Given the description of an element on the screen output the (x, y) to click on. 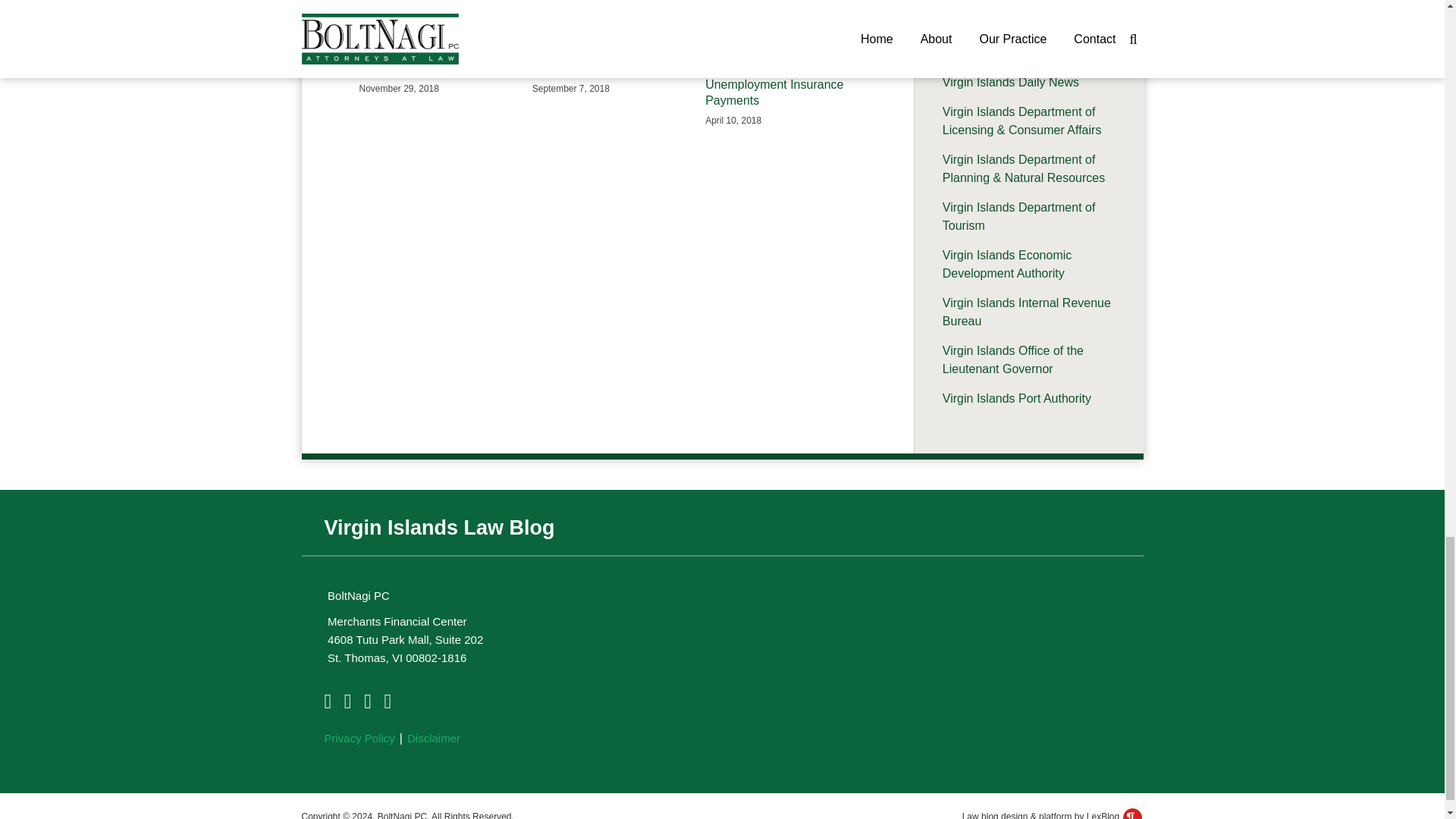
Signs of Economic Improvement: USVI Bonds Pick Up (434, 53)
LexBlog Logo (1131, 813)
Study: USVI Lost 4,500 Jobs After Hurricanes of Fall 2017 (607, 53)
